Given the description of an element on the screen output the (x, y) to click on. 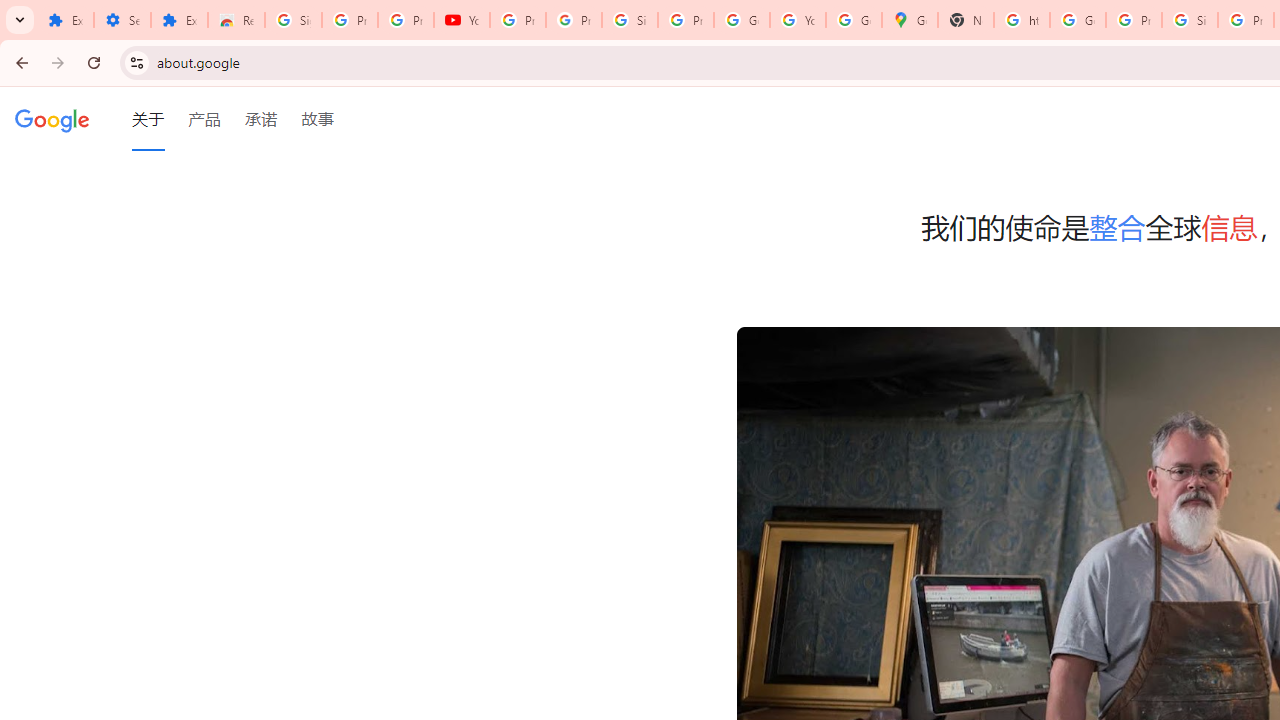
https://scholar.google.com/ (1021, 20)
Sign in - Google Accounts (629, 20)
Back (19, 62)
Reload (93, 62)
